Given the description of an element on the screen output the (x, y) to click on. 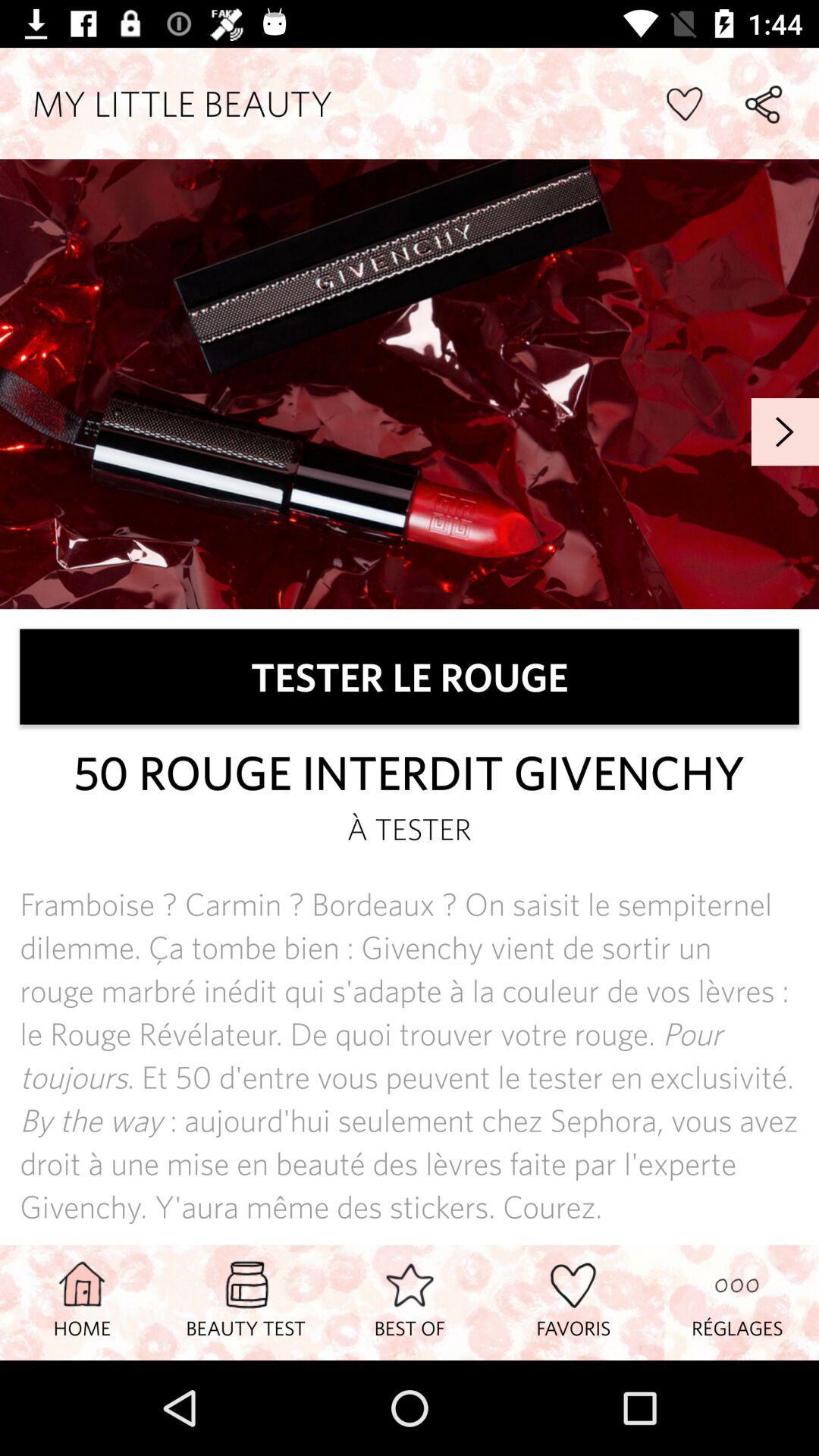
click to share option (763, 103)
